Given the description of an element on the screen output the (x, y) to click on. 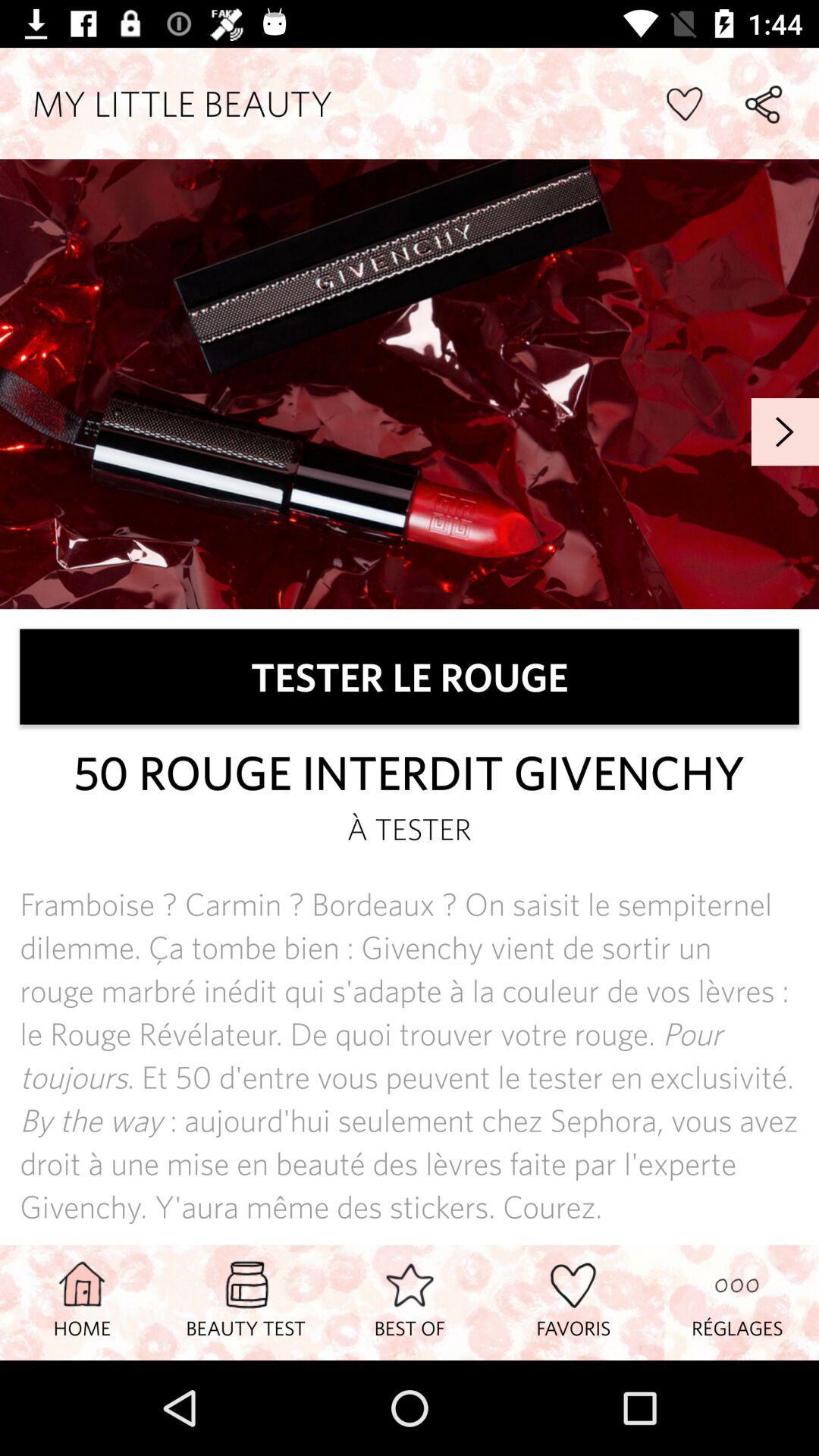
click to share option (763, 103)
